Given the description of an element on the screen output the (x, y) to click on. 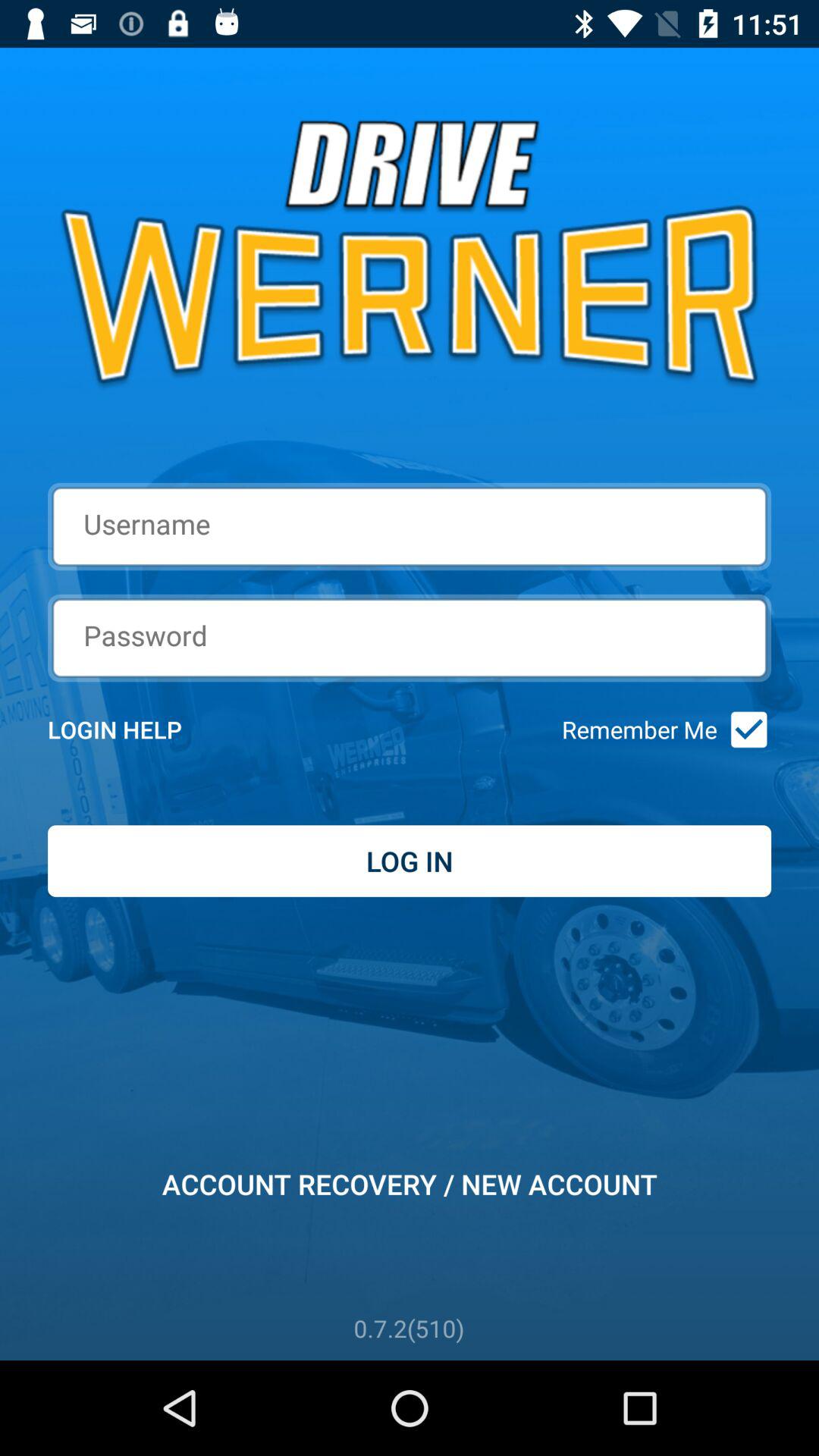
select the log in item (409, 860)
